Given the description of an element on the screen output the (x, y) to click on. 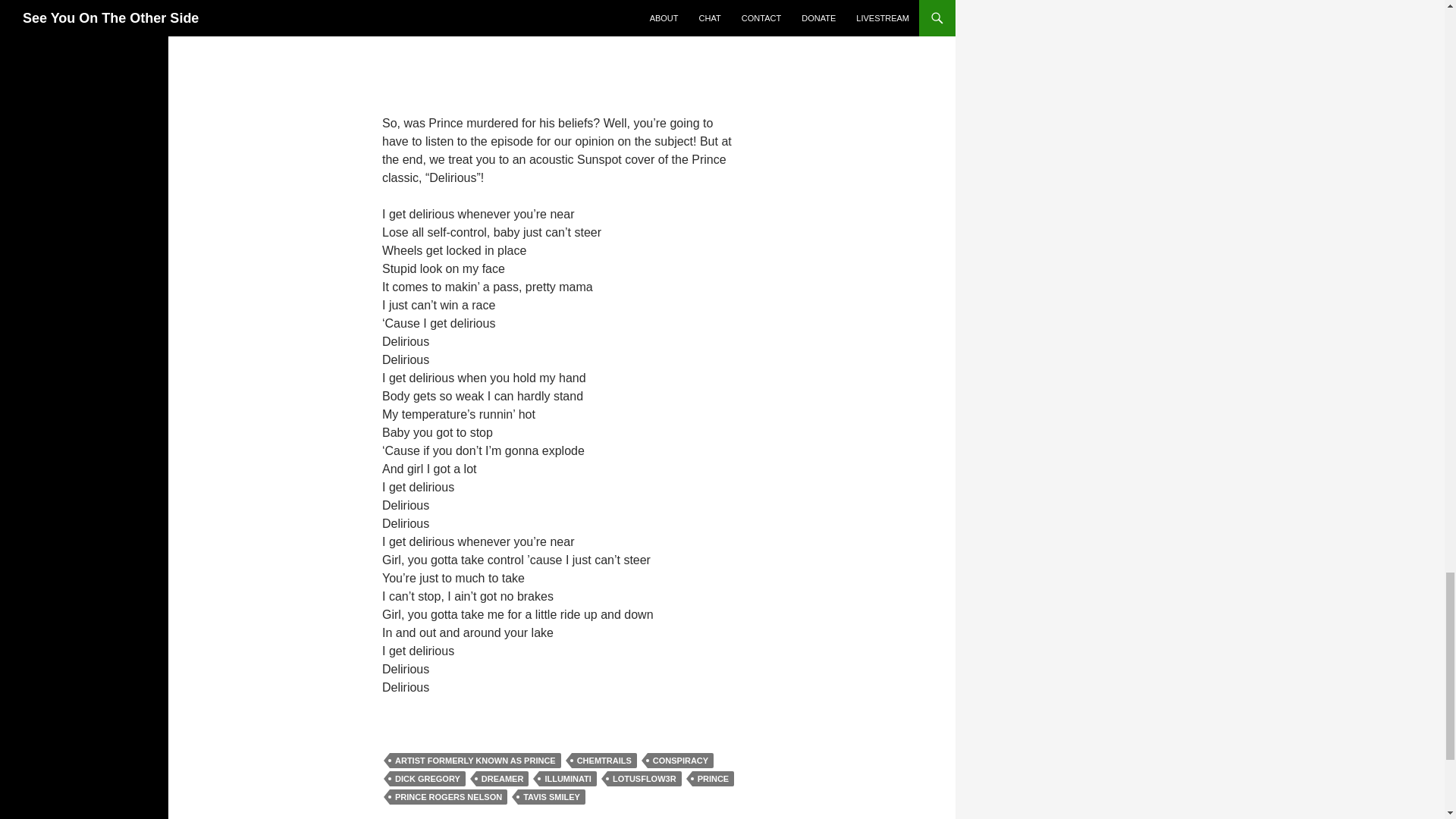
ARTIST FORMERLY KNOWN AS PRINCE (475, 760)
PRINCE (714, 778)
PRINCE ROGERS NELSON (448, 796)
LOTUSFLOW3R (644, 778)
DICK GREGORY (427, 778)
DREAMER (502, 778)
CONSPIRACY (680, 760)
ILLUMINATI (567, 778)
CHEMTRAILS (604, 760)
TAVIS SMILEY (551, 796)
